Given the description of an element on the screen output the (x, y) to click on. 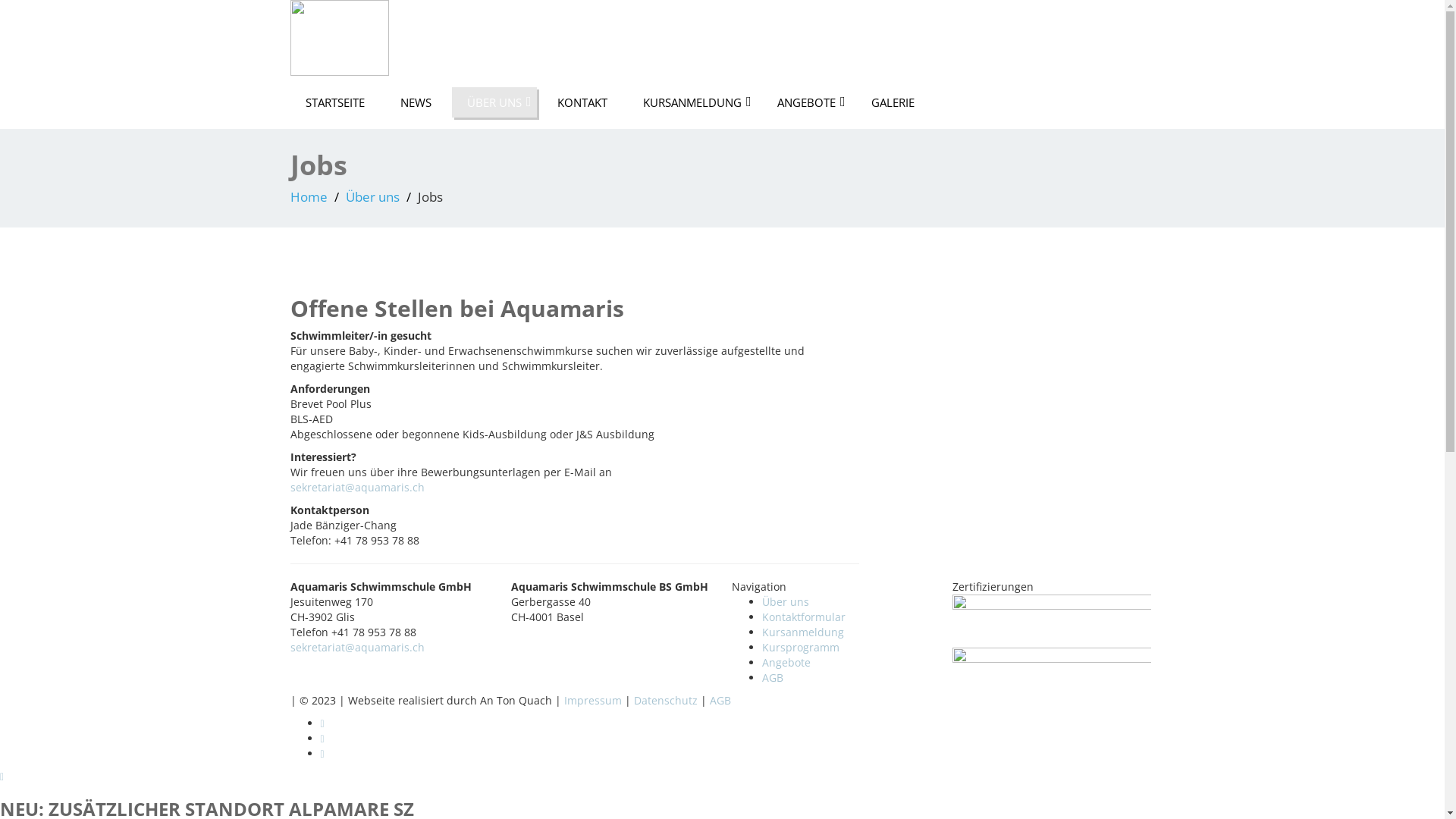
Kursanmeldung Element type: text (803, 631)
sekretariat@aquamaris.ch Element type: text (356, 487)
Aquamaris Schwimmschule GmbH Element type: hover (338, 36)
Kursprogramm Element type: text (800, 647)
Facebook Element type: hover (737, 723)
AGB Element type: text (720, 700)
ANGEBOTE Element type: text (805, 102)
Datenschutz Element type: text (665, 700)
KONTAKT Element type: text (581, 102)
GALERIE Element type: text (891, 102)
Angebote Element type: text (786, 662)
NEWS Element type: text (415, 102)
AGB Element type: text (772, 677)
instagram Element type: hover (737, 738)
Impressum Element type: text (594, 700)
sekretariat@aquamaris.ch Element type: text (356, 647)
Go Top Element type: hover (1, 775)
Home Element type: text (307, 196)
Kontaktformular Element type: text (803, 616)
KURSANMELDUNG Element type: text (691, 102)
whatsapp Element type: hover (737, 753)
STARTSEITE Element type: text (334, 102)
